Given the description of an element on the screen output the (x, y) to click on. 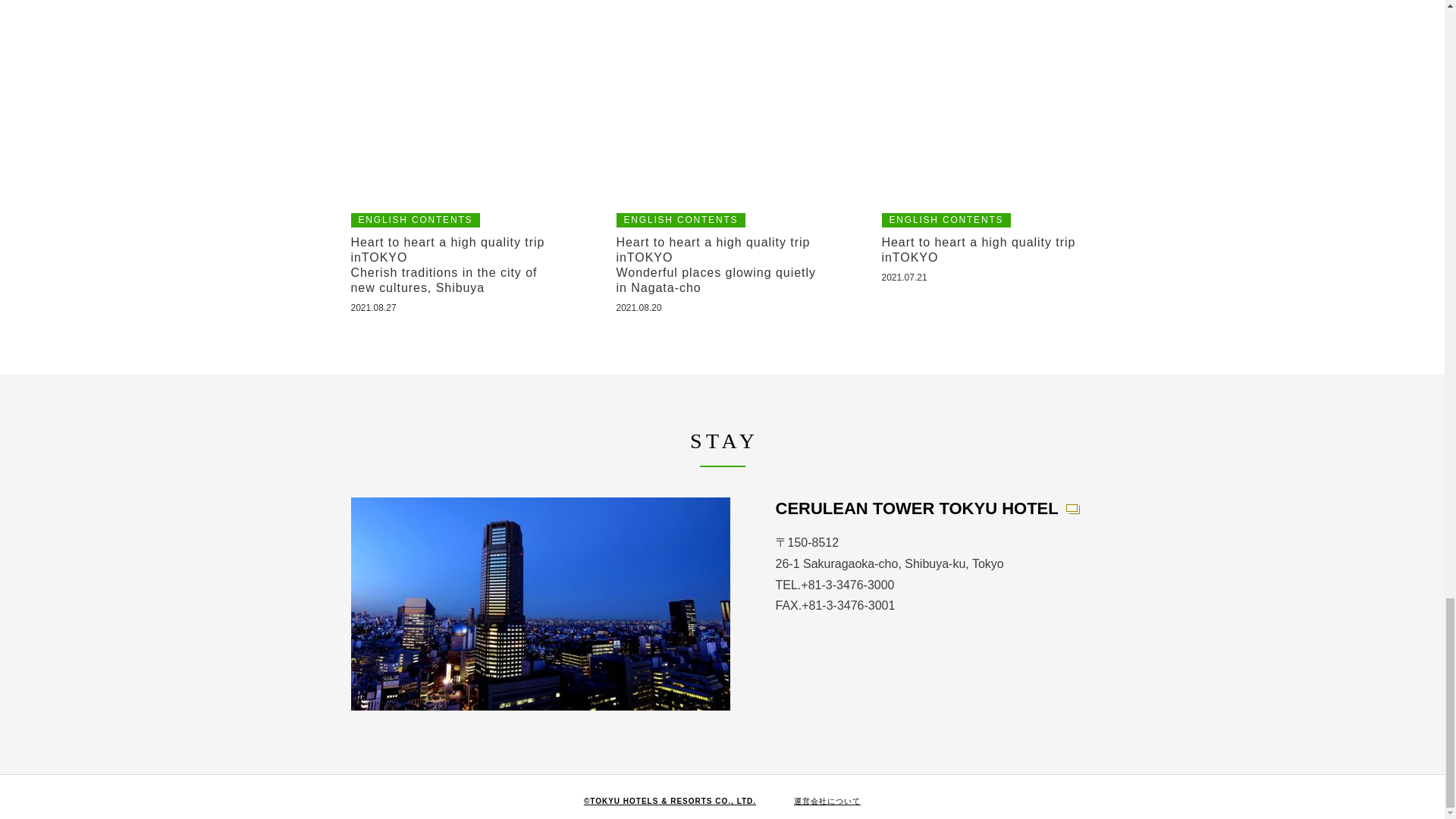
Heart to heart a high quality trip inTOKYO (986, 250)
CERULEAN TOWER TOKYU HOTEL (926, 508)
